Given the description of an element on the screen output the (x, y) to click on. 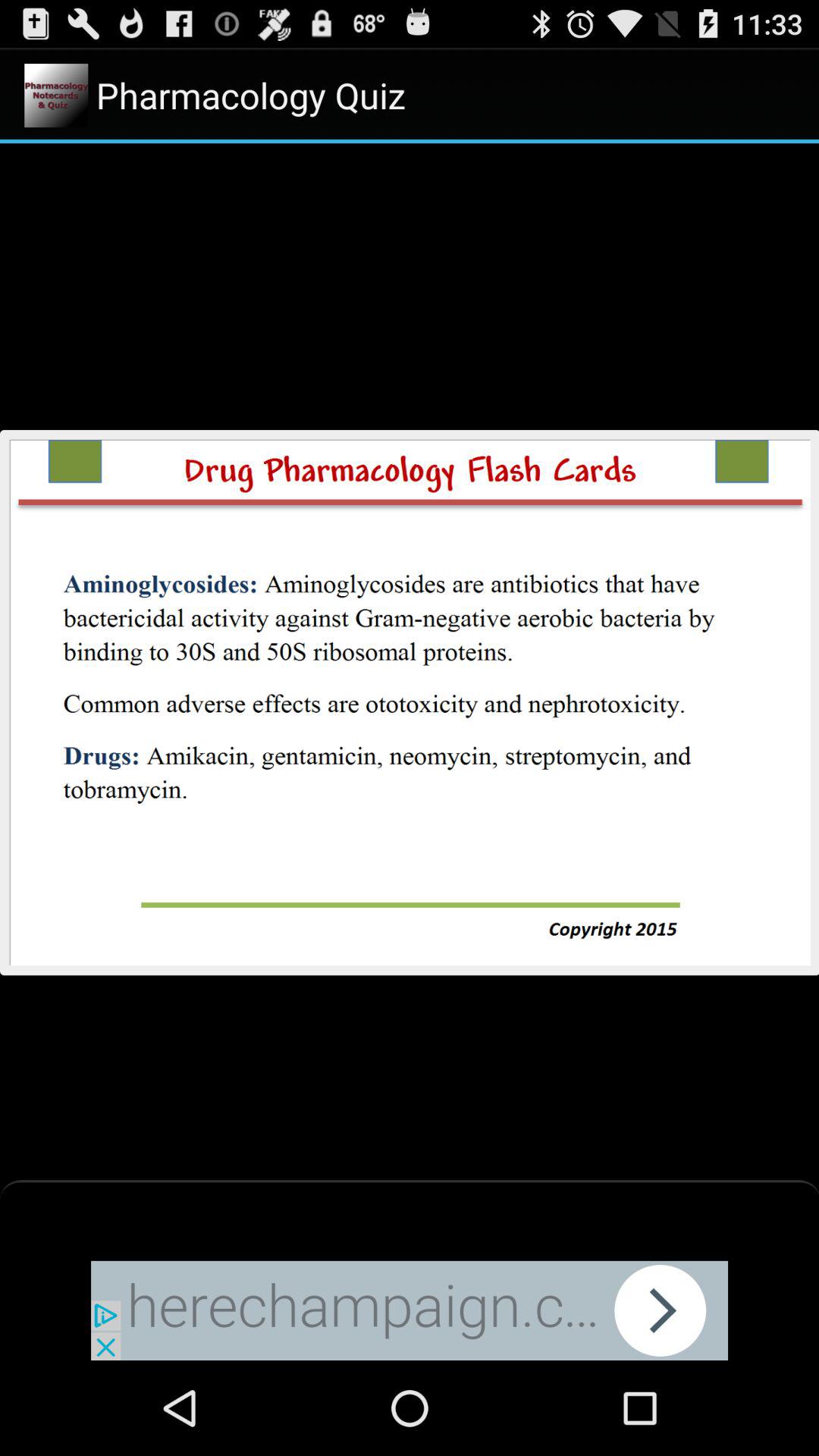
go to website (409, 1310)
